Given the description of an element on the screen output the (x, y) to click on. 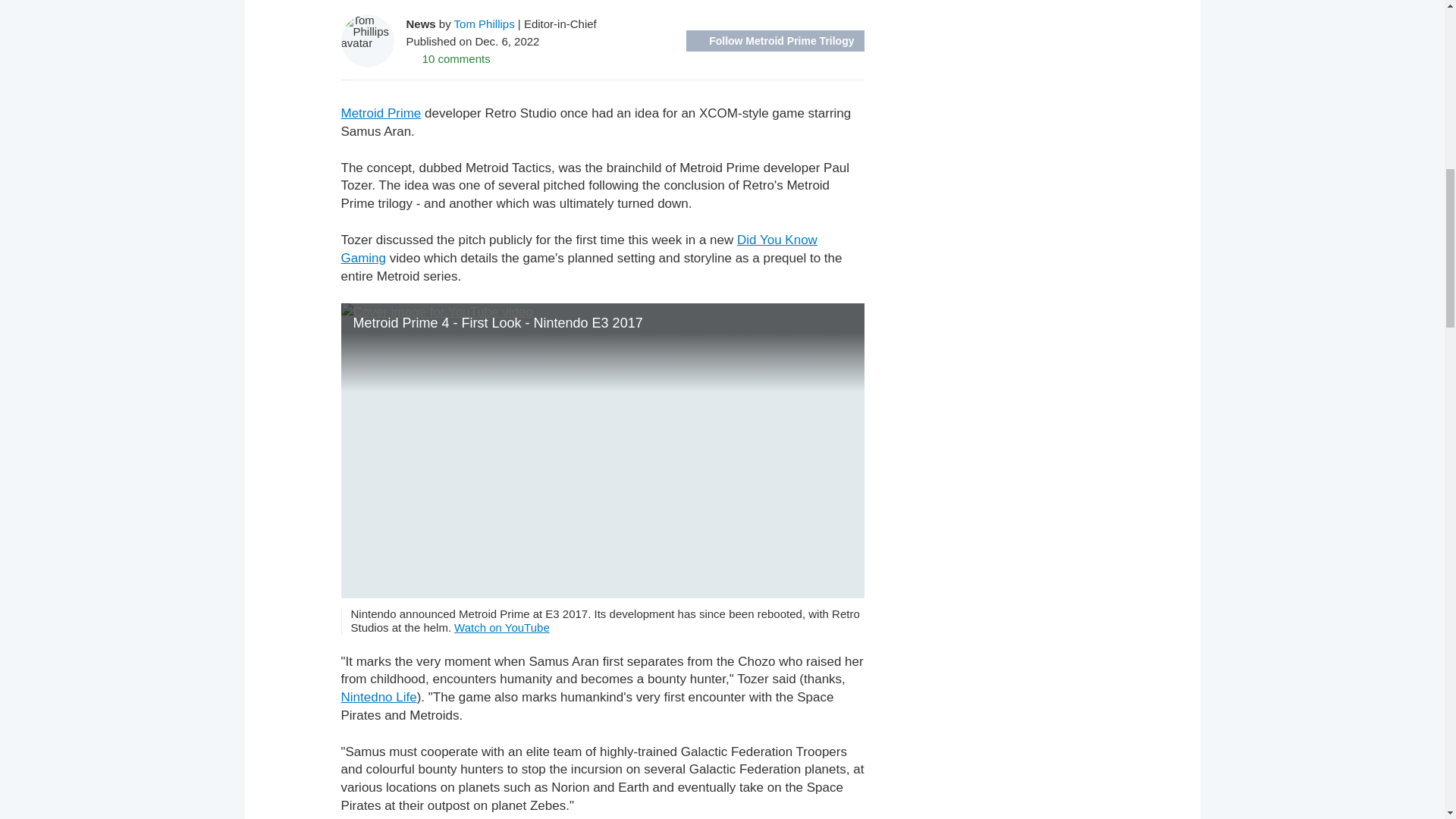
Follow Metroid Prime Trilogy (774, 40)
Nintedno Life (378, 697)
Watch on YouTube (502, 626)
Metroid Prime (381, 113)
Did You Know Gaming (578, 248)
Tom Phillips (484, 22)
10 comments (448, 57)
